Given the description of an element on the screen output the (x, y) to click on. 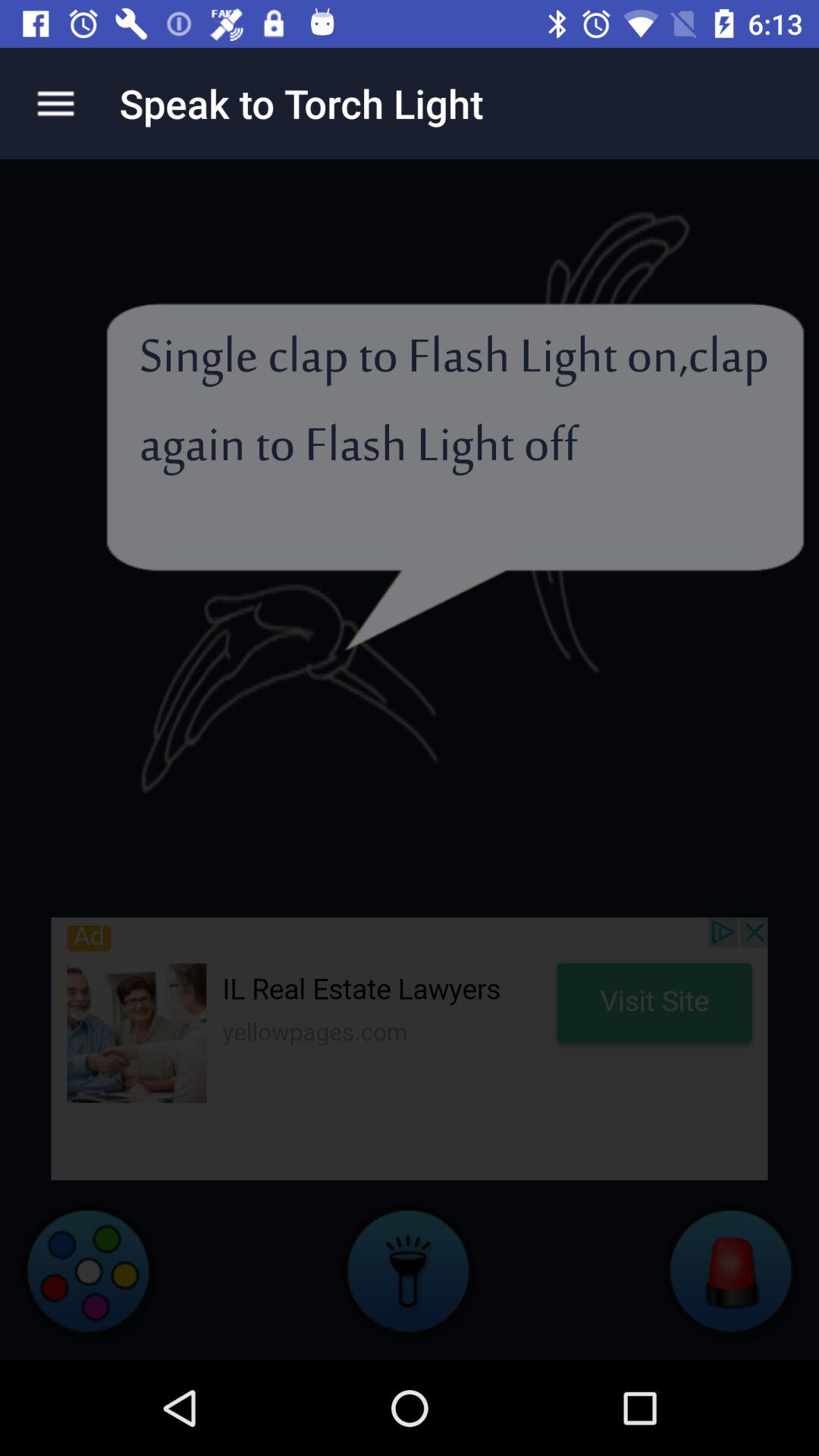
play video (87, 1270)
